Given the description of an element on the screen output the (x, y) to click on. 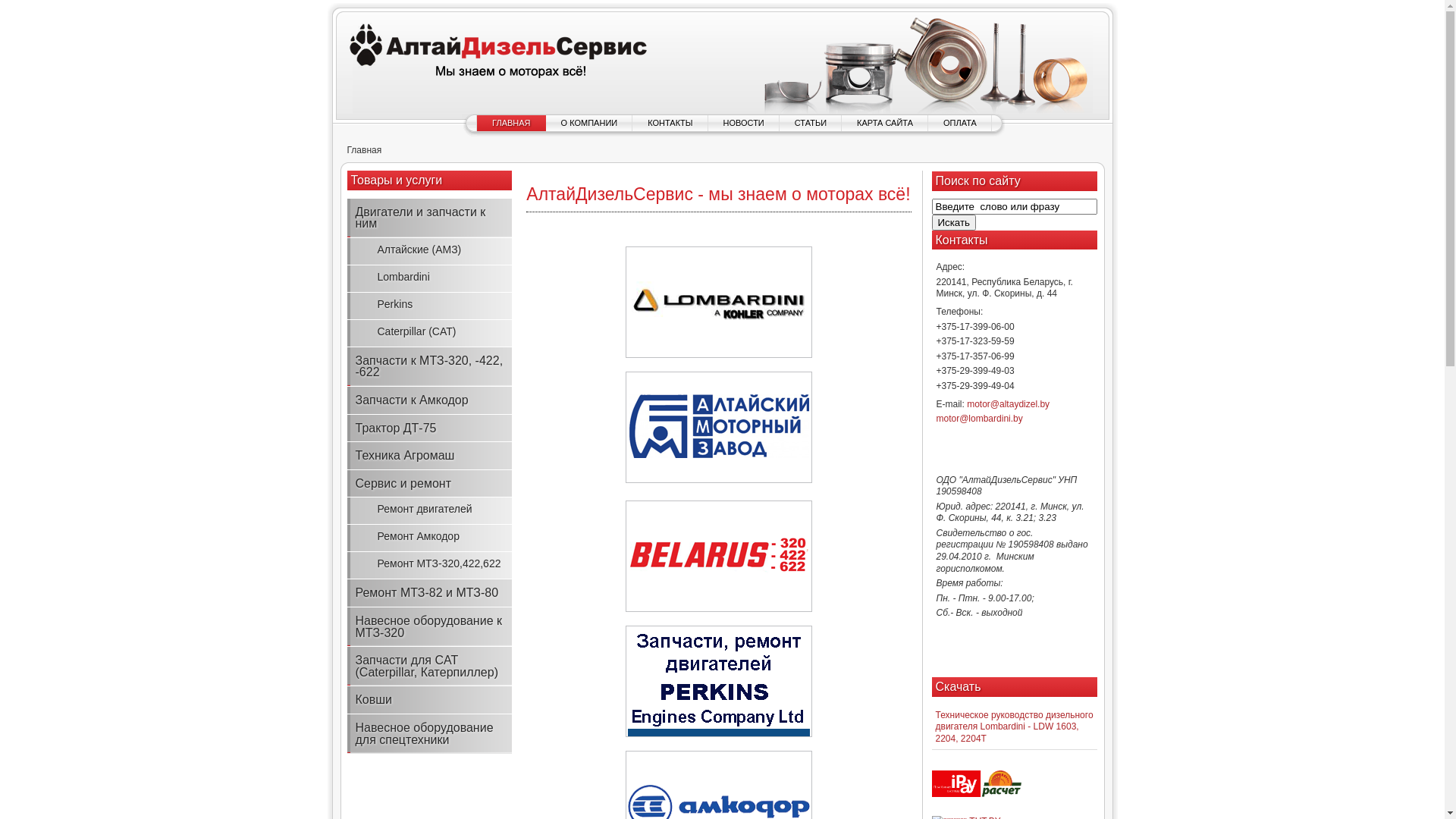
motor@altaydizel.by Element type: text (1007, 403)
Perkins Element type: text (429, 305)
Caterpillar (CAT) Element type: text (429, 332)
Lombardini Element type: text (429, 277)
motor@lombardini.by Element type: text (978, 418)
